Given the description of an element on the screen output the (x, y) to click on. 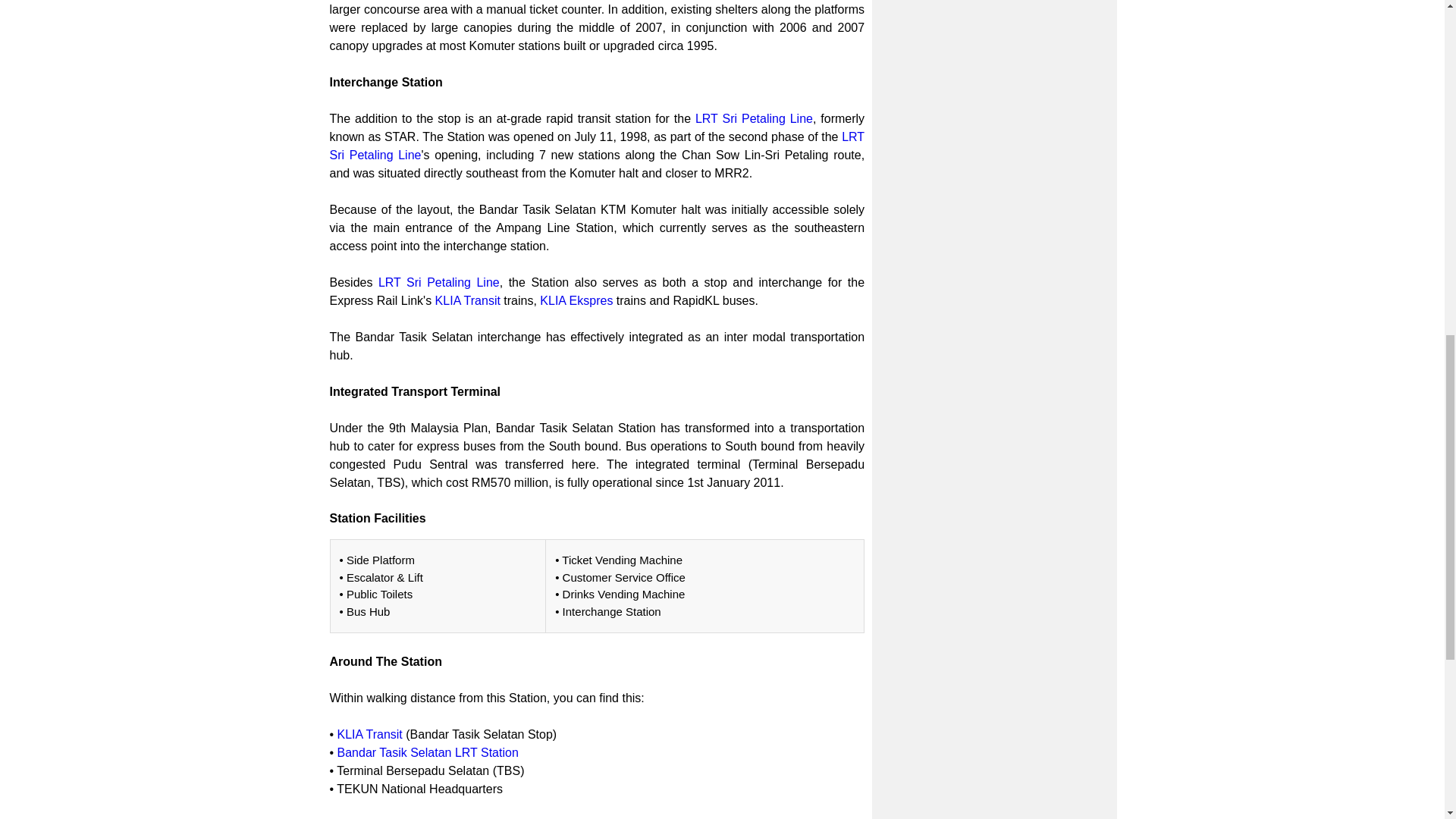
KLIA Ekspres (576, 300)
LRT Sri Petaling Line (596, 145)
Bandar Tasik Selatan LRT Station (427, 752)
KLIA Transit (370, 734)
LRT Sri Petaling Line (753, 118)
LRT Sri Petaling Line (438, 282)
KLIA Transit (467, 300)
